Given the description of an element on the screen output the (x, y) to click on. 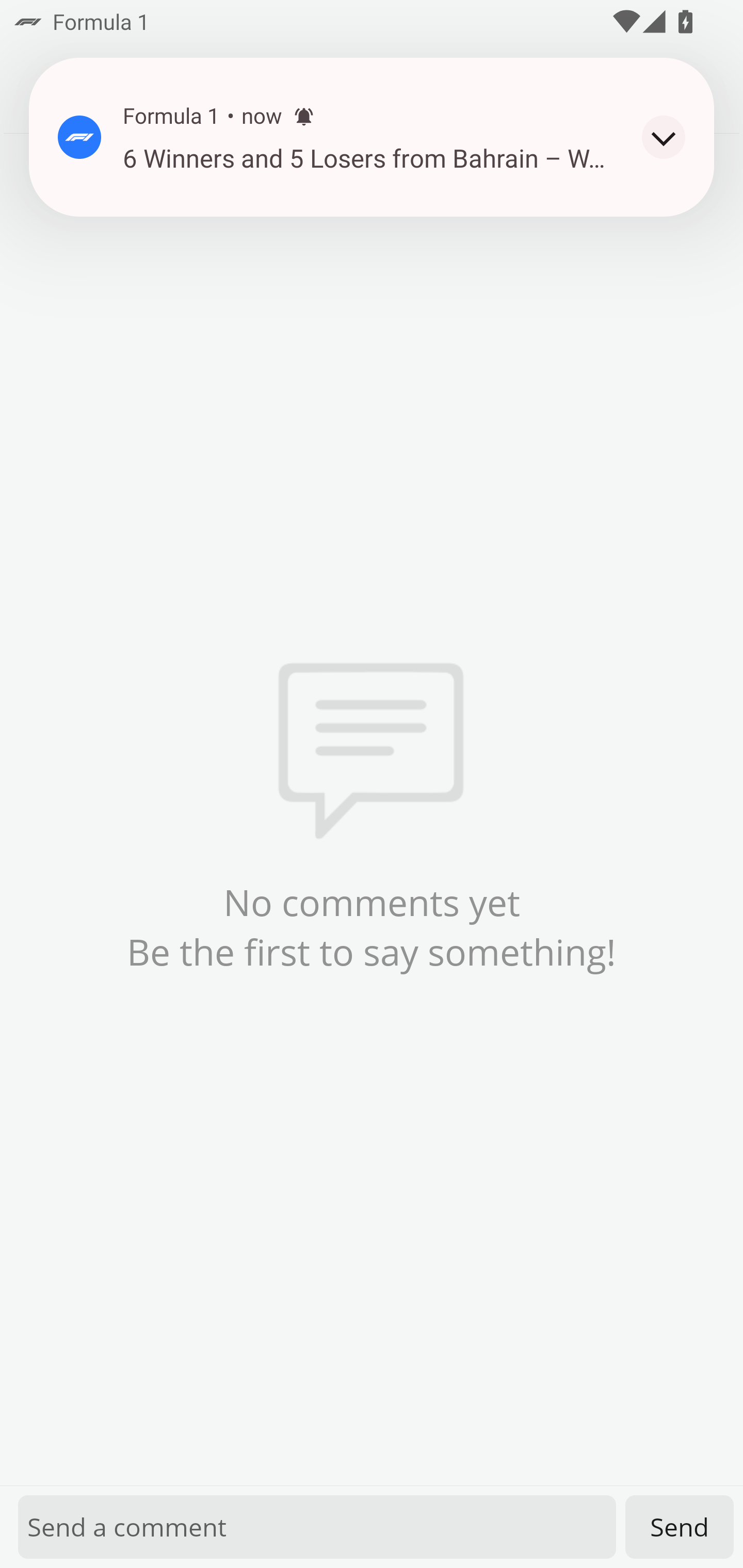
Send a comment (316, 1526)
Send (679, 1526)
